Given the description of an element on the screen output the (x, y) to click on. 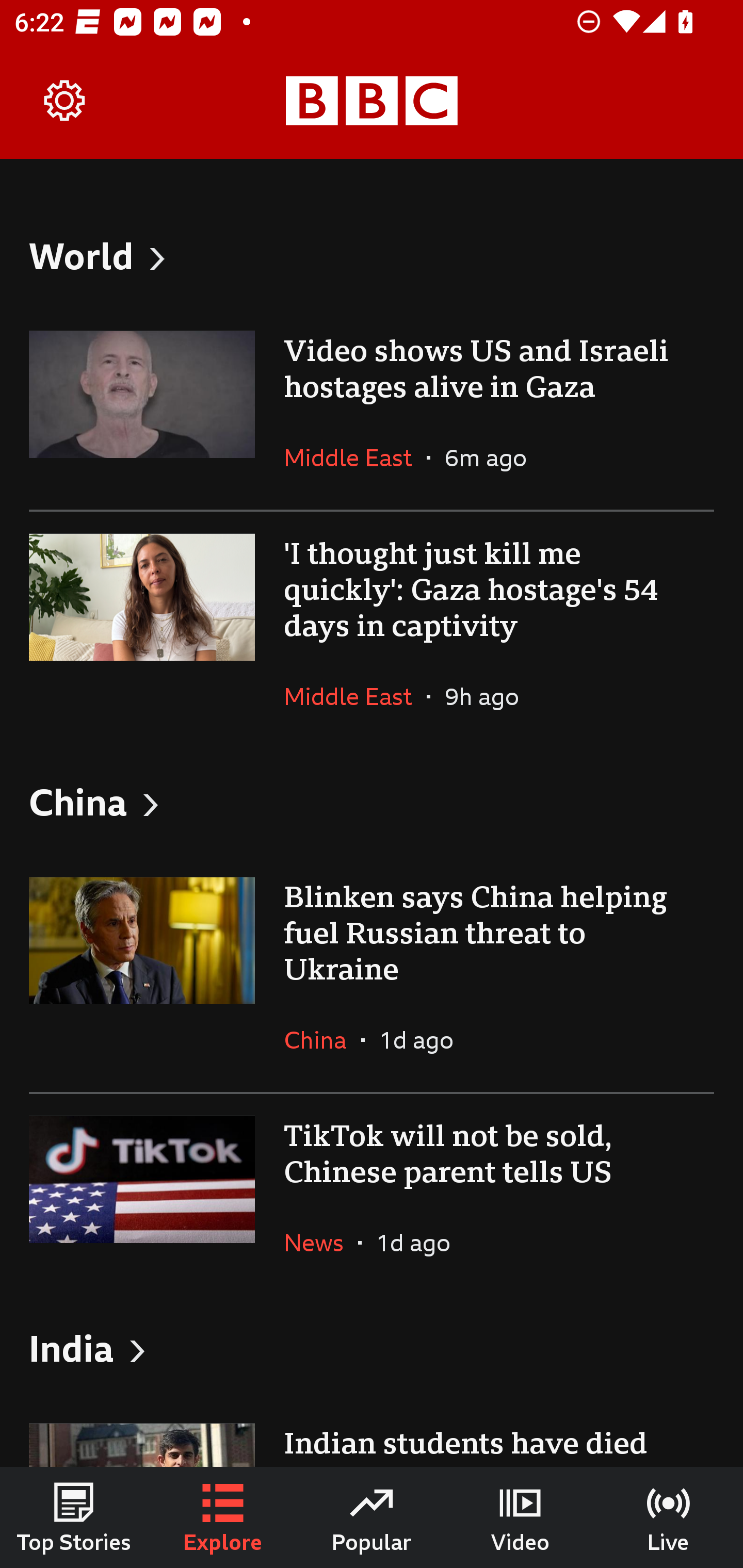
Settings (64, 100)
World, Heading World    (371, 255)
Middle East In the section Middle East (354, 457)
Middle East In the section Middle East (354, 695)
China, Heading China    (371, 800)
China In the section China (322, 1039)
News In the section News (320, 1242)
India, Heading India    (371, 1348)
Top Stories (74, 1517)
Popular (371, 1517)
Video (519, 1517)
Live (668, 1517)
